Given the description of an element on the screen output the (x, y) to click on. 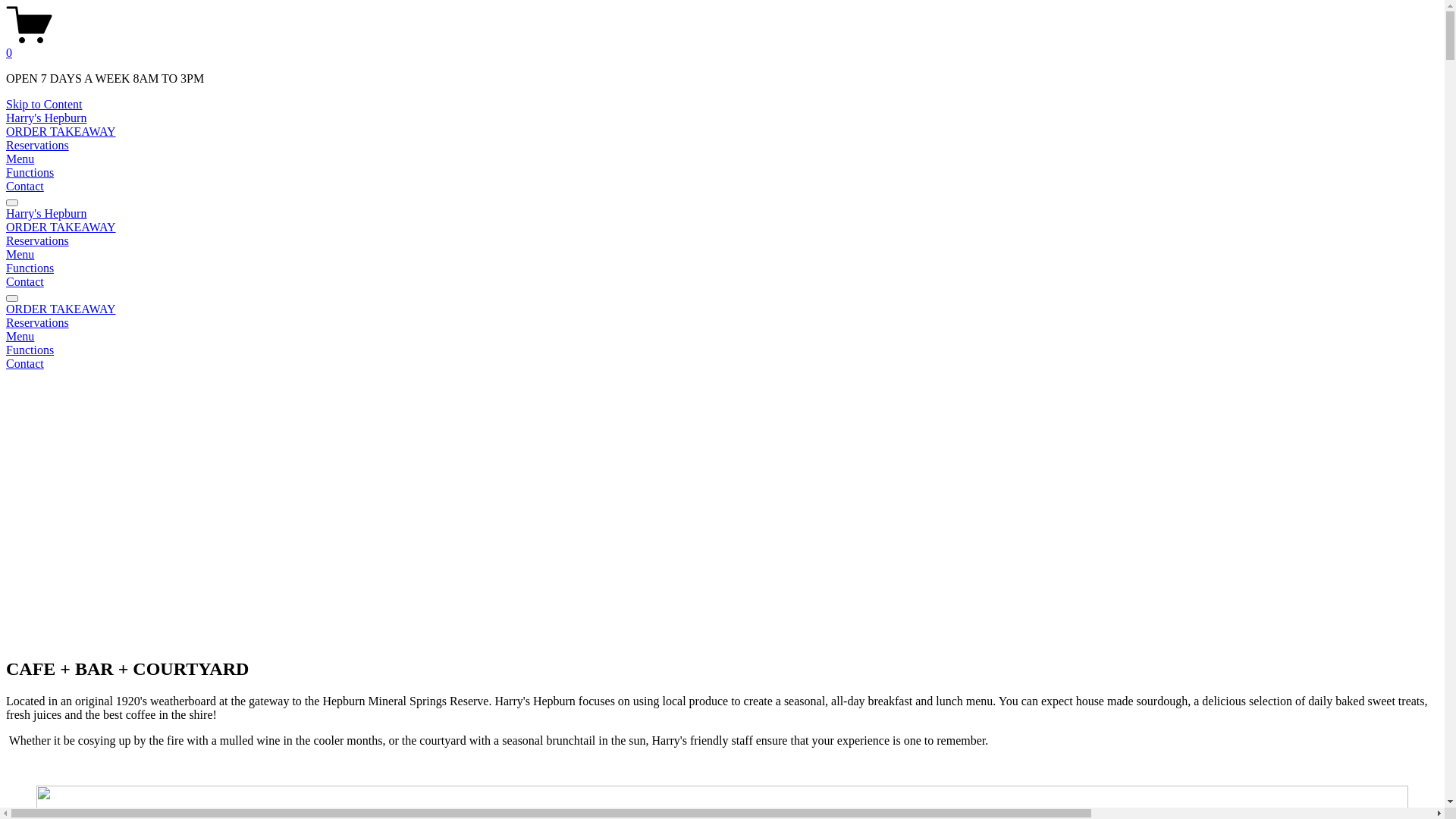
ORDER TAKEAWAY Element type: text (61, 131)
Harry's Hepburn Element type: text (46, 117)
Contact Element type: text (24, 185)
Functions Element type: text (29, 267)
Menu Element type: text (20, 253)
Reservations Element type: text (37, 240)
Menu Element type: text (20, 158)
Skip to Content Element type: text (43, 103)
Functions Element type: text (722, 350)
Contact Element type: text (24, 281)
ORDER TAKEAWAY Element type: text (61, 226)
0 Element type: text (722, 45)
Harry's Hepburn Element type: text (46, 213)
Functions Element type: text (29, 172)
Reservations Element type: text (37, 144)
Reservations Element type: text (722, 322)
Menu Element type: text (722, 336)
ORDER TAKEAWAY Element type: text (61, 308)
Contact Element type: text (722, 363)
